Given the description of an element on the screen output the (x, y) to click on. 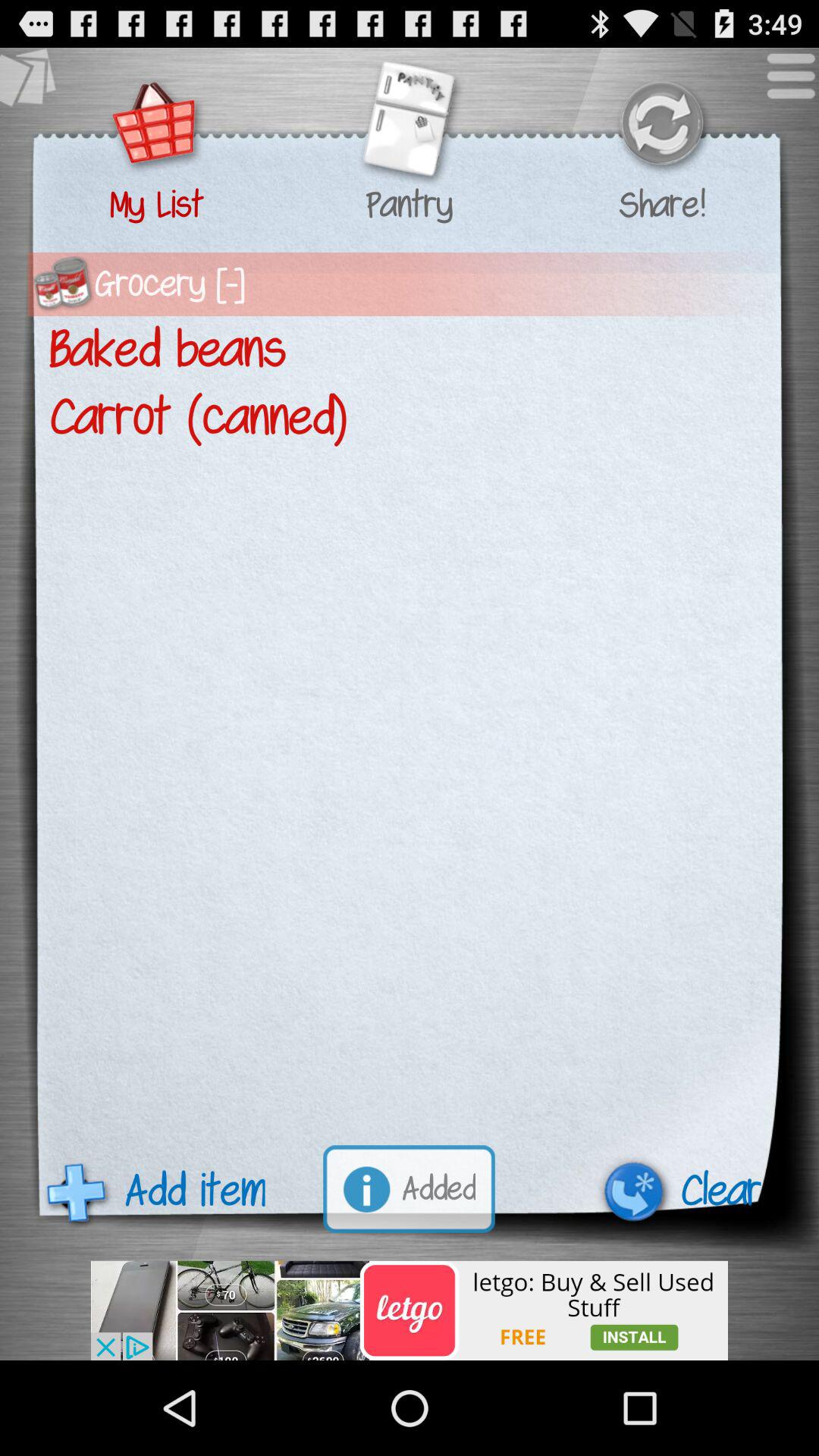
open shop list (156, 125)
